Given the description of an element on the screen output the (x, y) to click on. 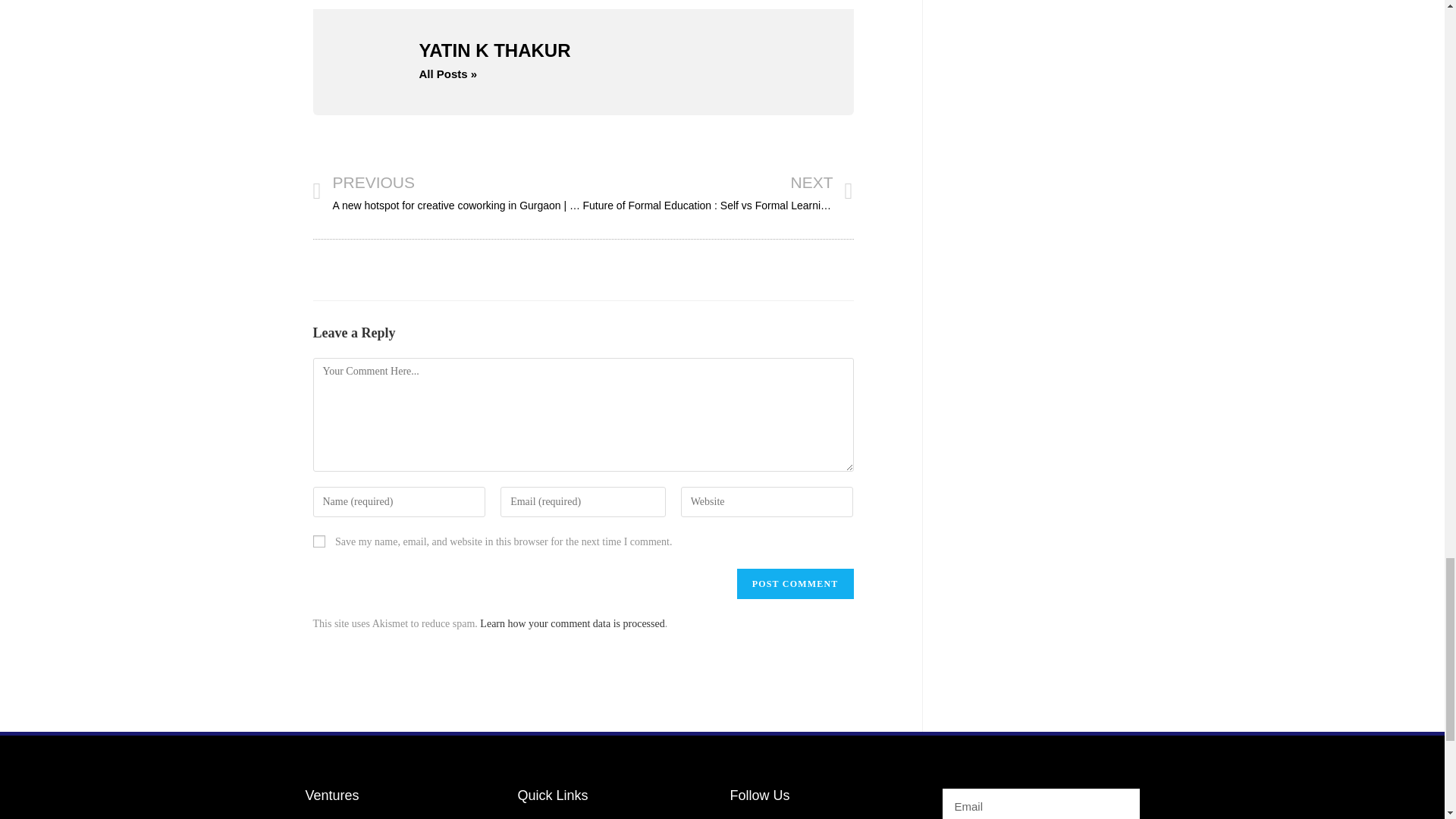
yes (318, 541)
YATIN K THAKUR (618, 50)
Post Comment (794, 583)
